Given the description of an element on the screen output the (x, y) to click on. 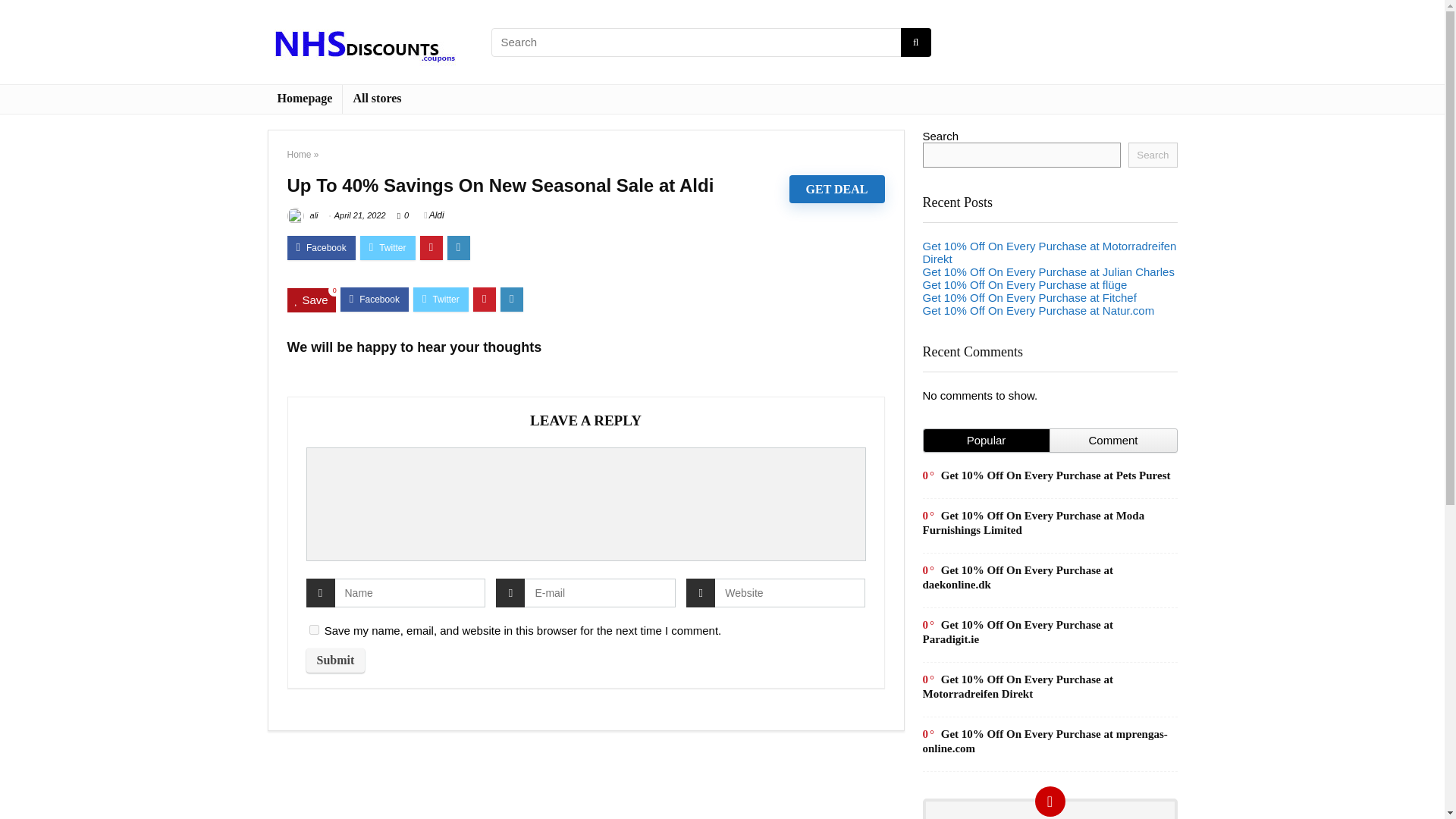
All stores (376, 99)
ali (301, 215)
Home (298, 154)
Submit (335, 660)
Search (1152, 154)
yes (313, 629)
Aldi (433, 214)
Homepage (304, 99)
Submit (335, 660)
GET DEAL (837, 189)
